Given the description of an element on the screen output the (x, y) to click on. 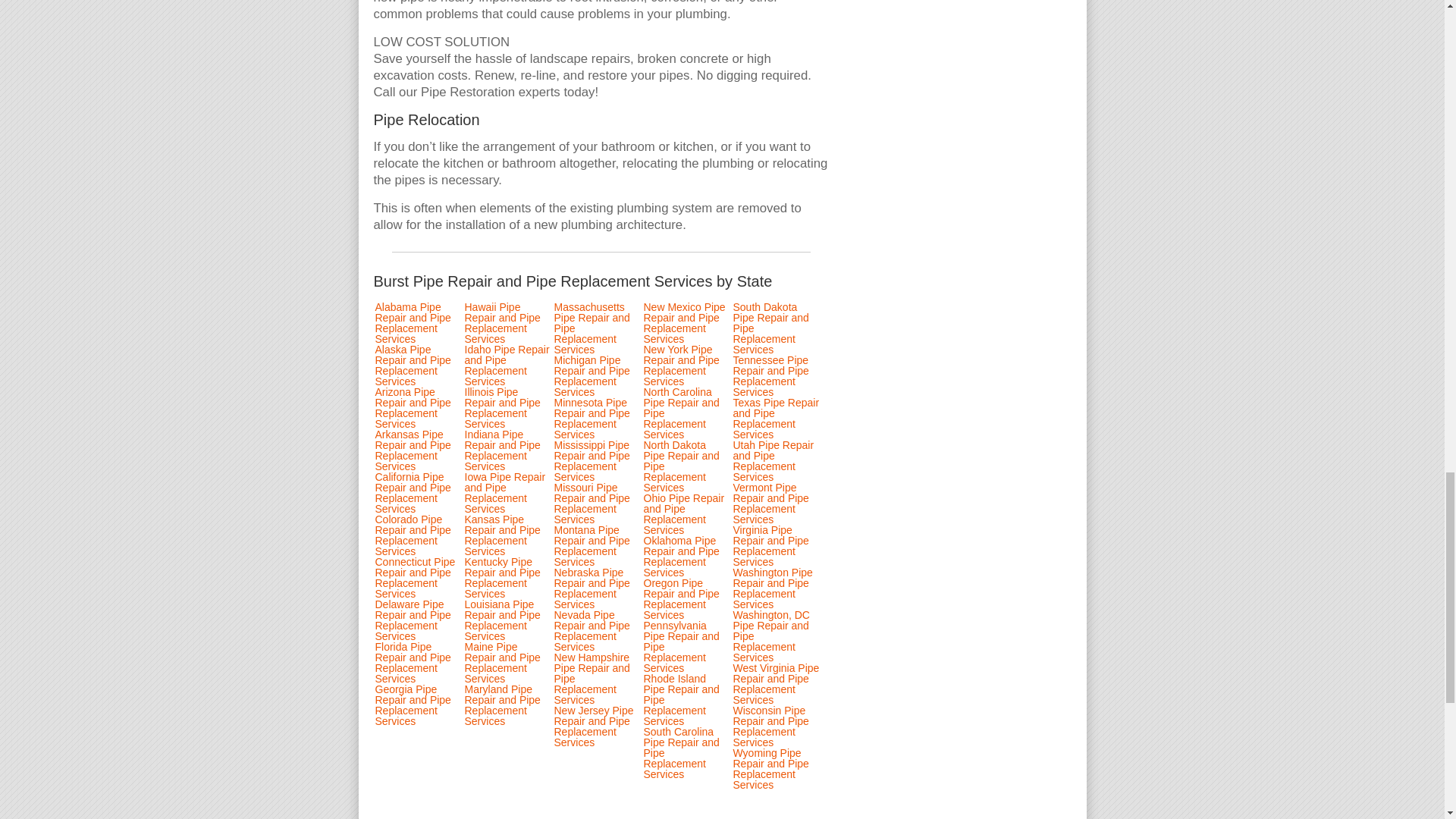
Mississippi Pipe Repair and Pipe Replacement Services (590, 460)
Idaho Pipe Repair and Pipe Replacement Services (506, 365)
Illinois Pipe Repair and Pipe Replacement Services (502, 407)
Maine Pipe Repair and Pipe Replacement Services (502, 662)
Delaware Pipe Repair and Pipe Replacement Services (411, 620)
Hawaii Pipe Repair and Pipe Replacement Services (502, 322)
Florida Pipe Repair and Pipe Replacement Services (411, 662)
Arkansas Pipe Repair and Pipe Replacement Services (411, 450)
Georgia Pipe Repair and Pipe Replacement Services (411, 705)
California Pipe Repair and Pipe Replacement Services (411, 492)
